Given the description of an element on the screen output the (x, y) to click on. 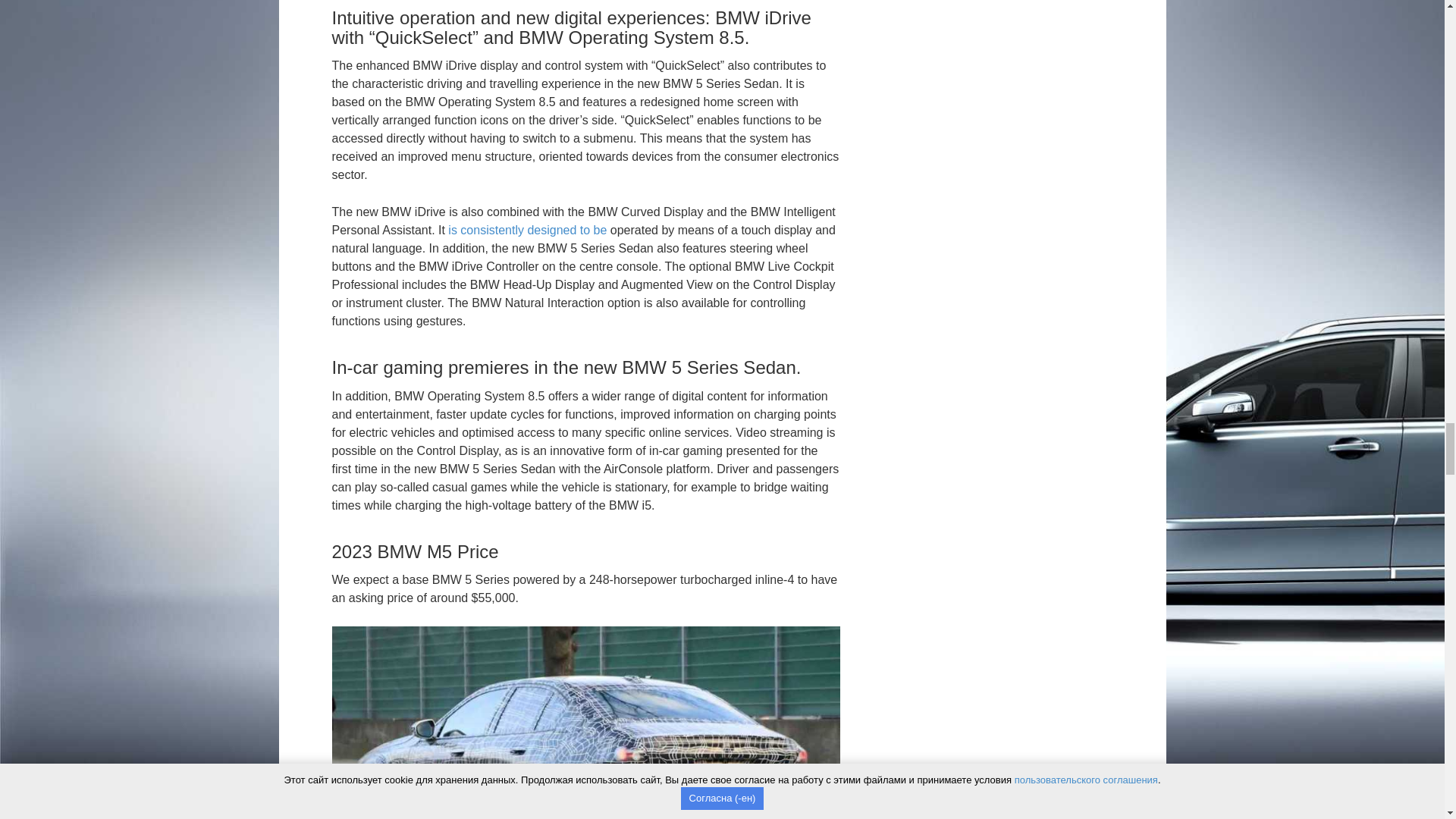
is consistently designed to be (527, 229)
